Given the description of an element on the screen output the (x, y) to click on. 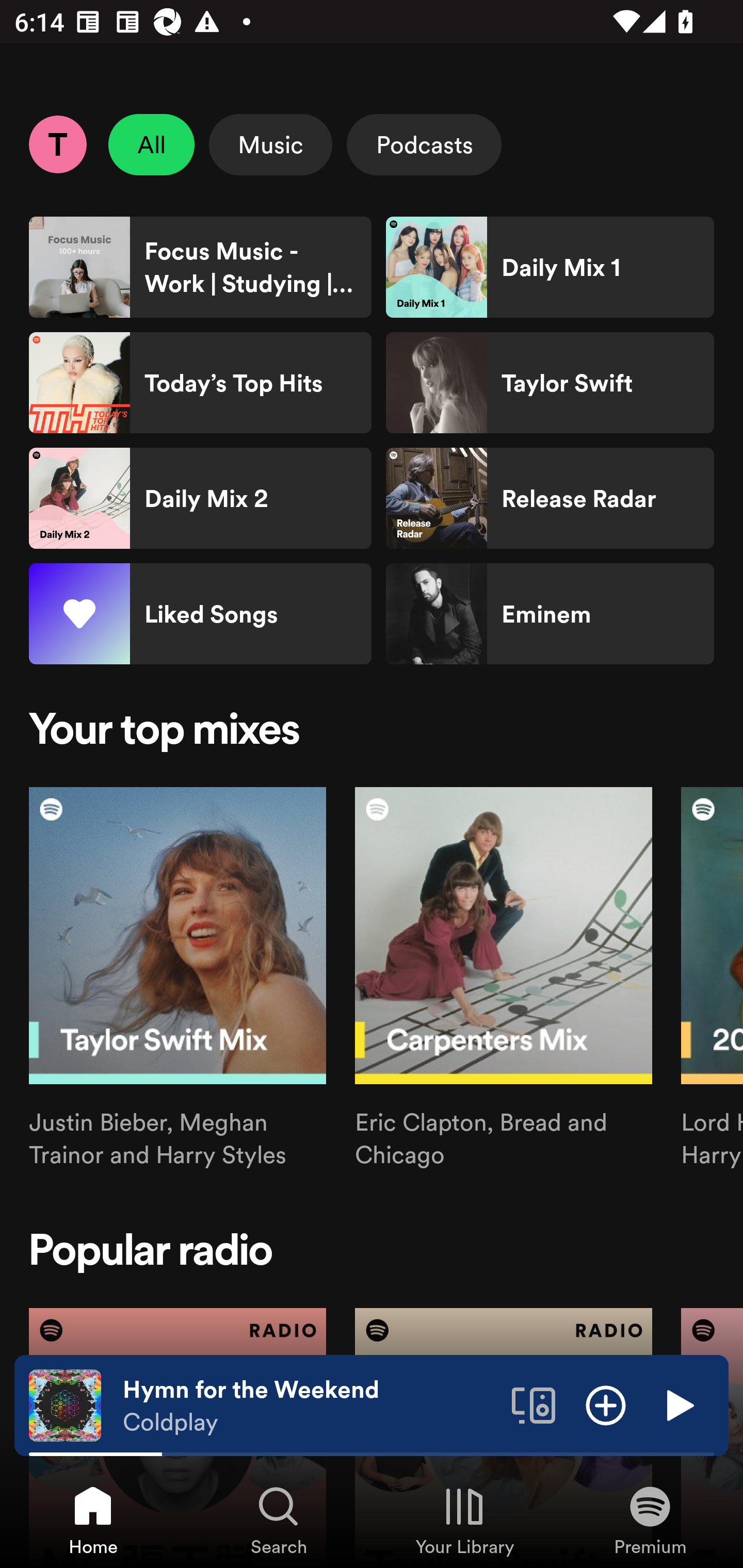
Profile (57, 144)
All Unselect All (151, 144)
Music Select Music (270, 144)
Podcasts Select Podcasts (423, 144)
Daily Mix 1 Shortcut Daily Mix 1 (549, 267)
Today’s Top Hits Shortcut Today’s Top Hits (199, 382)
Taylor Swift Shortcut Taylor Swift (549, 382)
Daily Mix 2 Shortcut Daily Mix 2 (199, 498)
Release Radar Shortcut Release Radar (549, 498)
Liked Songs Shortcut Liked Songs (199, 613)
Eminem Shortcut Eminem (549, 613)
Hymn for the Weekend Coldplay (309, 1405)
The cover art of the currently playing track (64, 1404)
Connect to a device. Opens the devices menu (533, 1404)
Add item (605, 1404)
Play (677, 1404)
Home, Tab 1 of 4 Home Home (92, 1519)
Search, Tab 2 of 4 Search Search (278, 1519)
Your Library, Tab 3 of 4 Your Library Your Library (464, 1519)
Premium, Tab 4 of 4 Premium Premium (650, 1519)
